Given the description of an element on the screen output the (x, y) to click on. 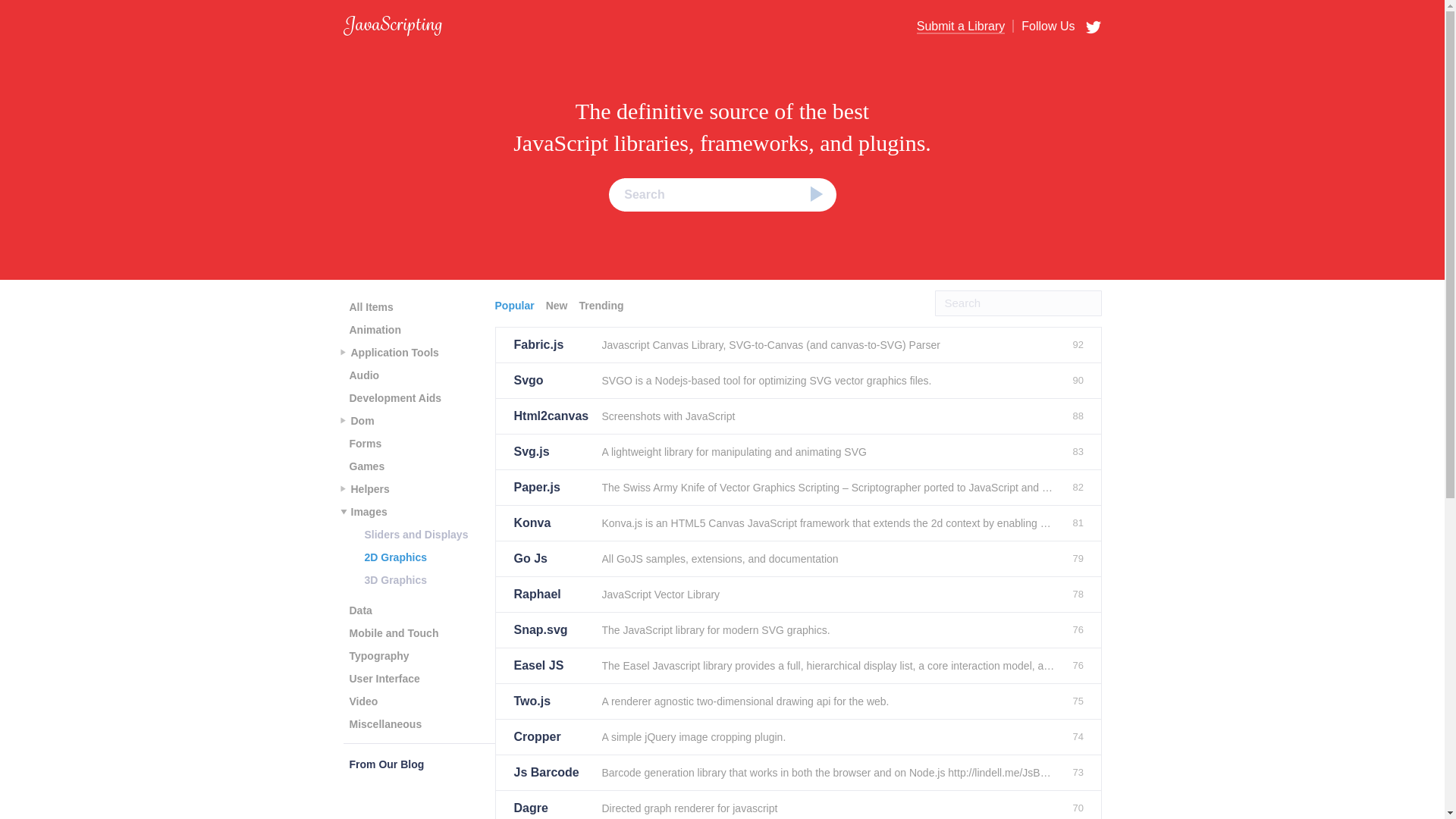
3D Graphics (395, 579)
Sliders and Displays (416, 534)
Svg.js (551, 451)
2D Graphics (395, 557)
Trending (602, 305)
Svgo (551, 380)
Development Aids (394, 397)
Submit a Library (961, 26)
User Interface (383, 678)
Video (363, 701)
Typography (378, 655)
Fabric.js (551, 344)
Forms (364, 443)
Miscellaneous (385, 723)
New (559, 305)
